Given the description of an element on the screen output the (x, y) to click on. 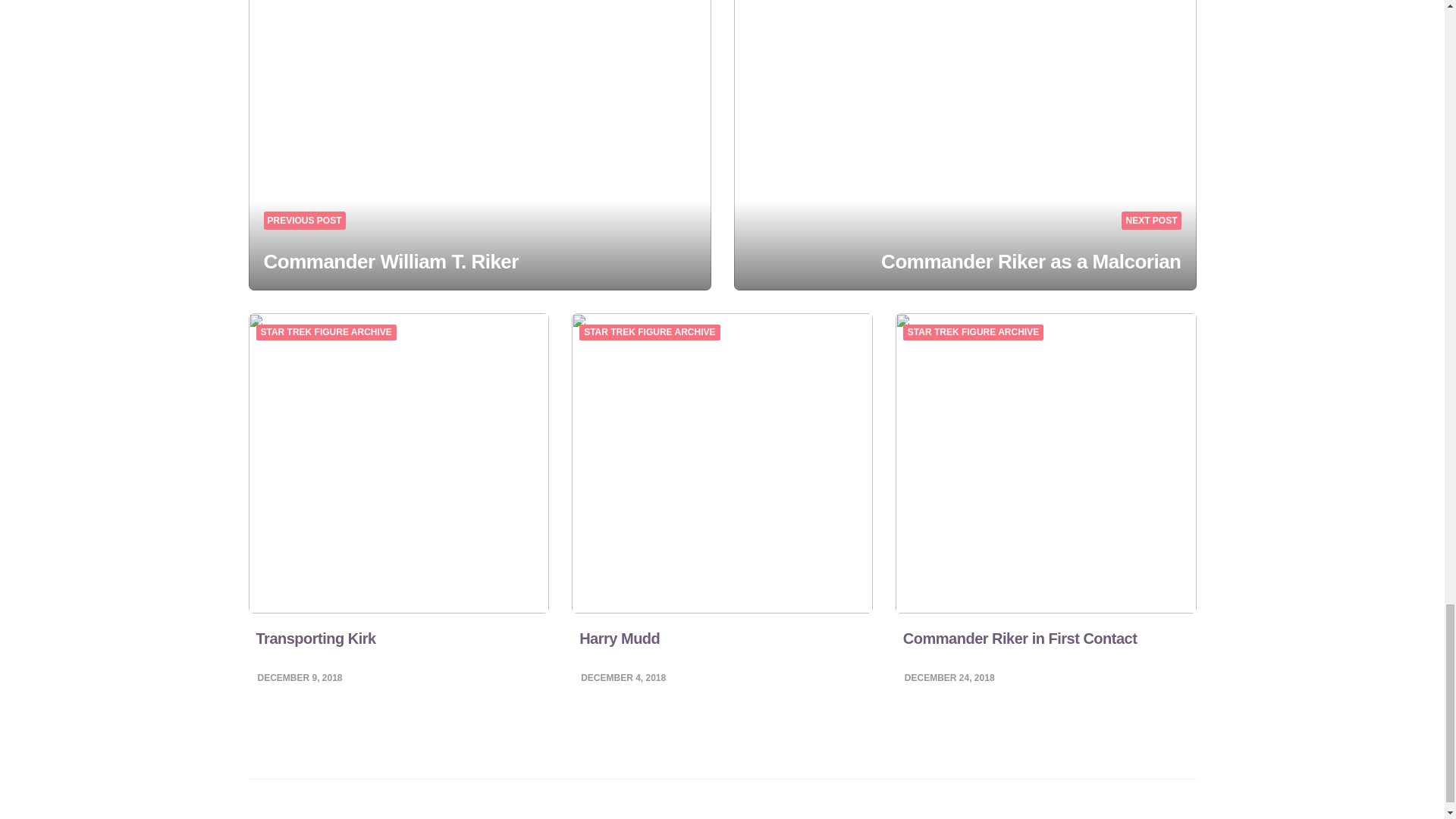
Commander William T. Riker (390, 261)
STAR TREK FIGURE ARCHIVE (325, 332)
Commander Riker as a Malcorian (1030, 261)
